Given the description of an element on the screen output the (x, y) to click on. 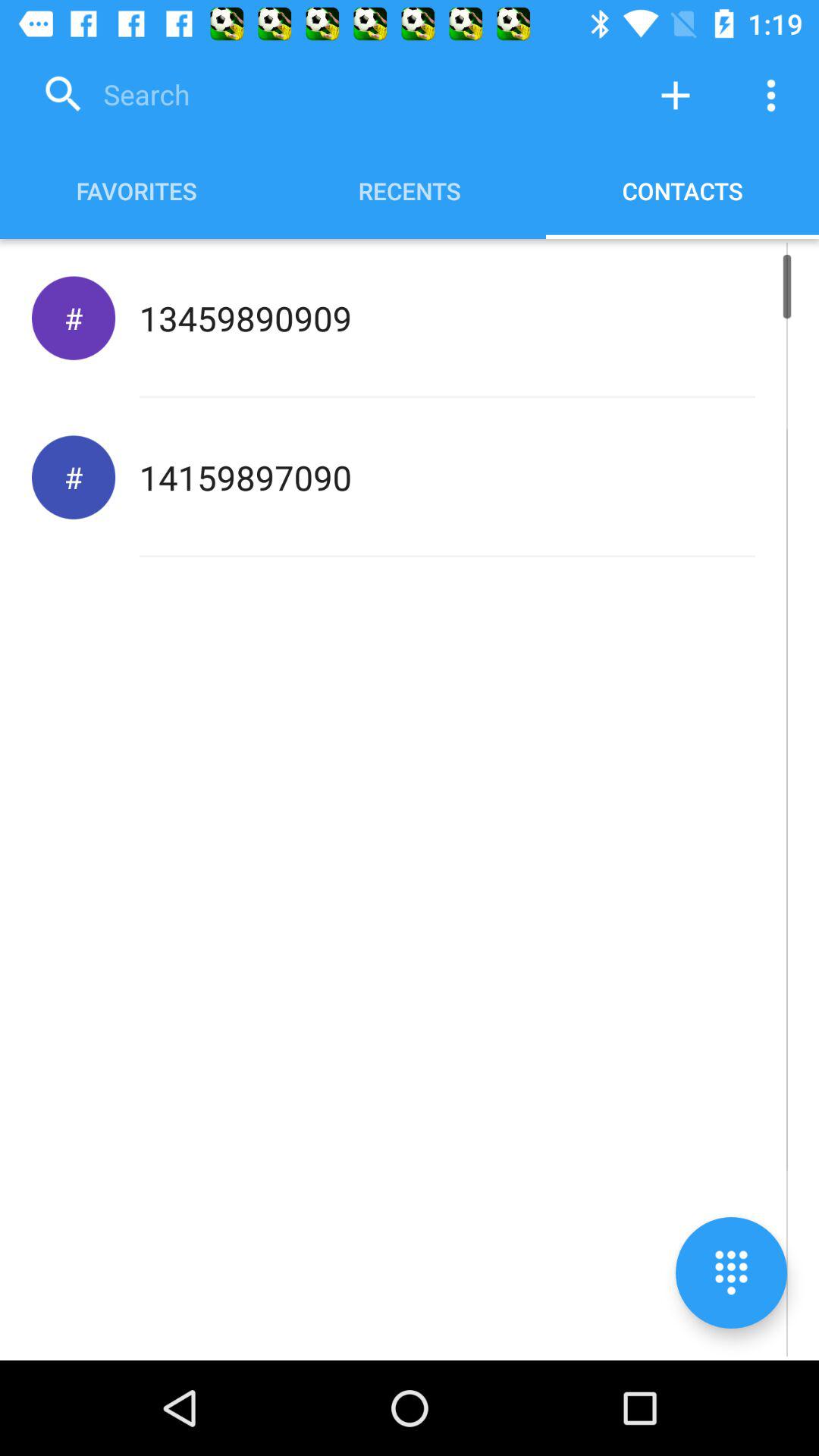
add a contact (675, 95)
